Given the description of an element on the screen output the (x, y) to click on. 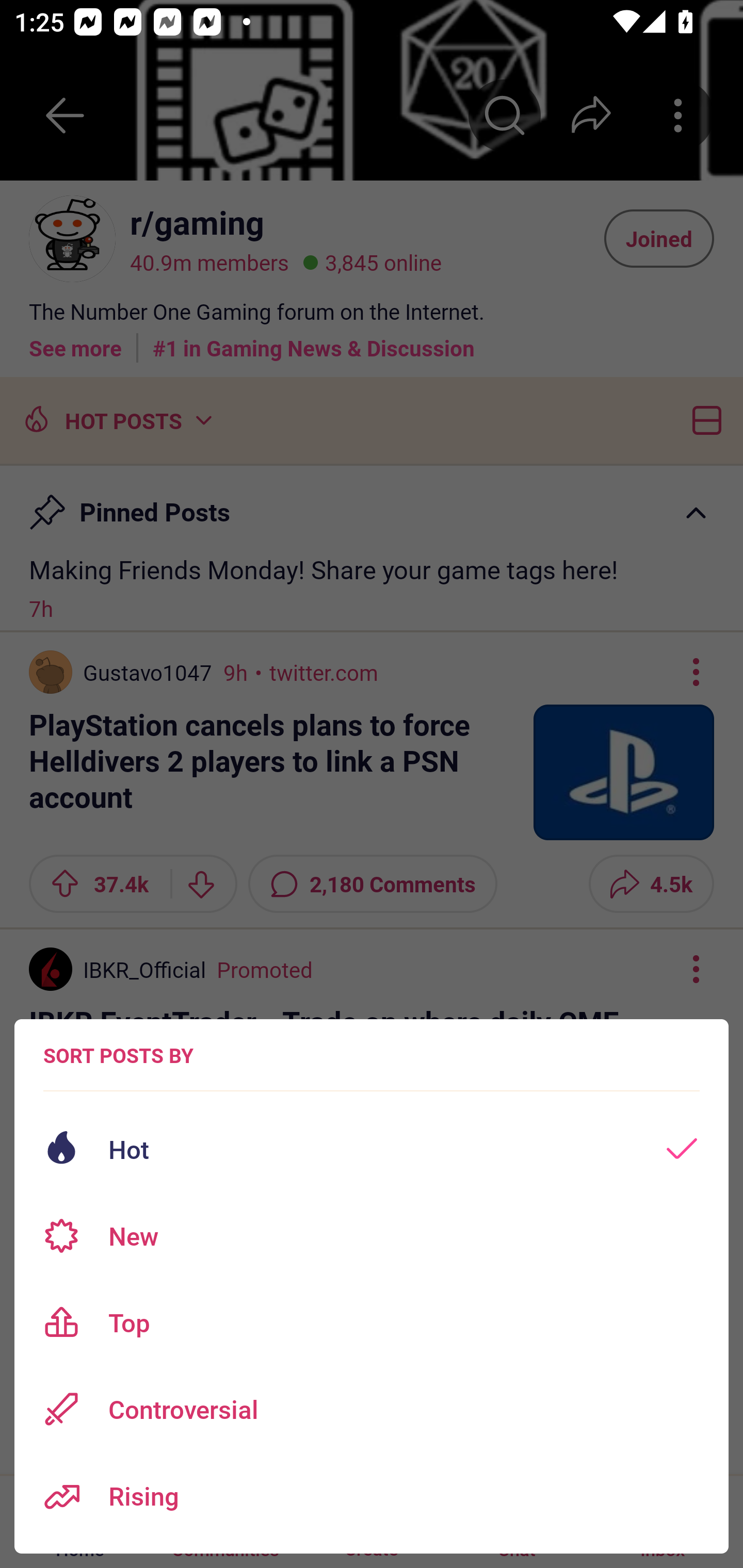
SORT POSTS BY Sort posts options (118, 1055)
Hot (371, 1149)
New (371, 1236)
Top (371, 1322)
Controversial (371, 1408)
Rising (371, 1495)
